Given the description of an element on the screen output the (x, y) to click on. 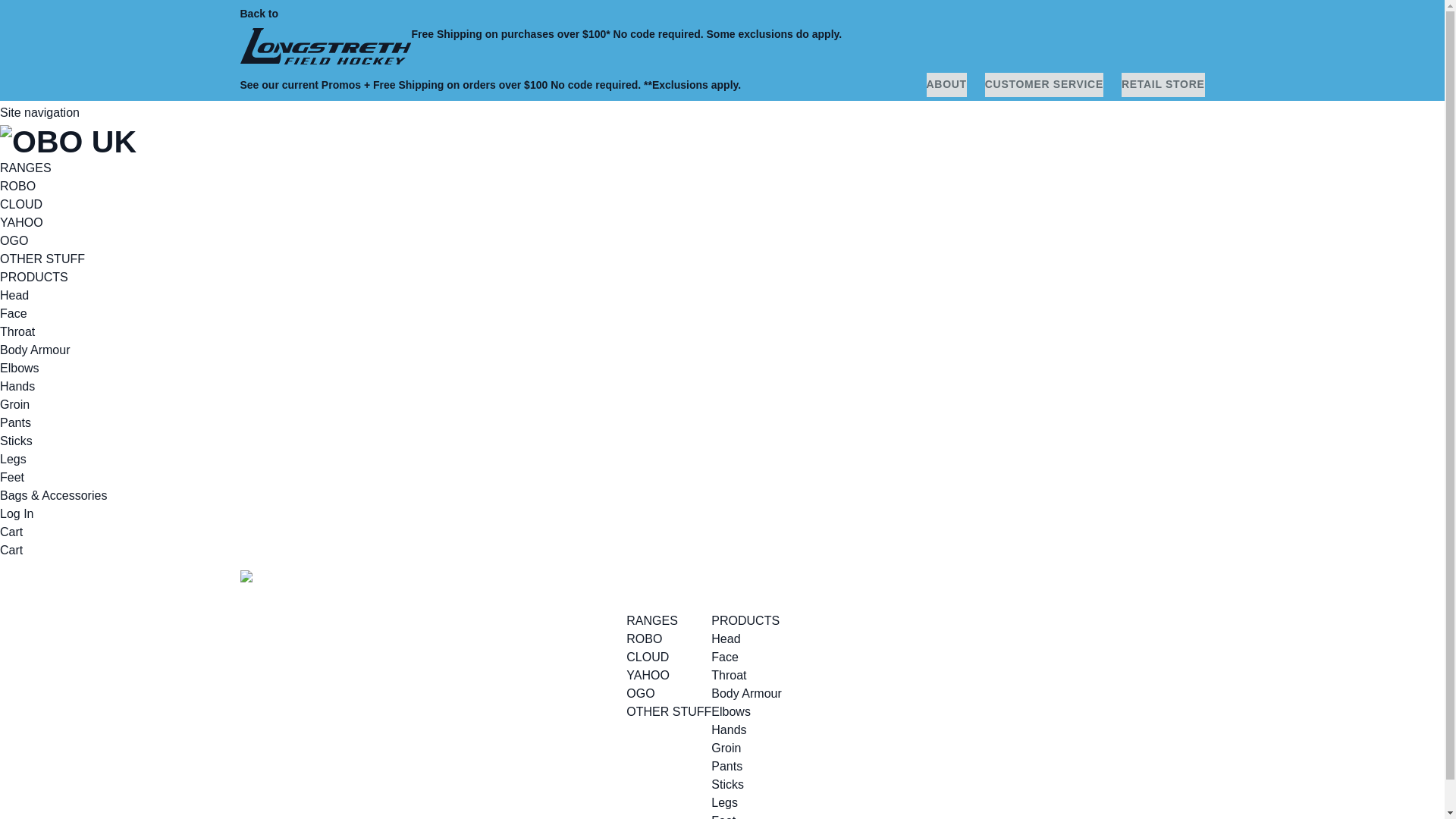
RETAIL STORE (1163, 84)
See our current Promos (300, 84)
ABOUT (946, 84)
CUSTOMER SERVICE (1044, 84)
Back to   (325, 34)
